Given the description of an element on the screen output the (x, y) to click on. 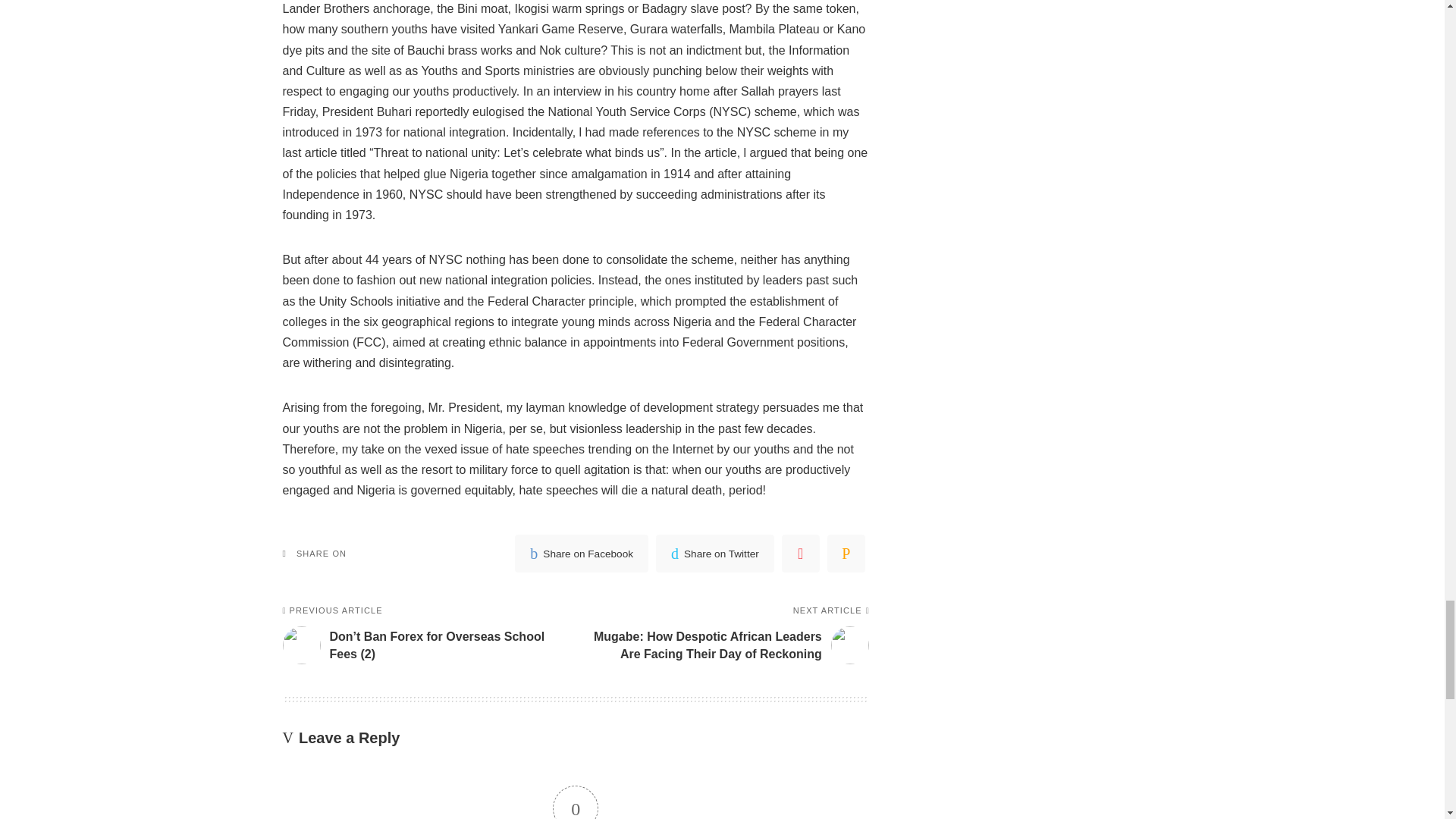
Twitter (715, 553)
Share on Facebook (581, 553)
Pinterest (800, 553)
Facebook (581, 553)
Email (845, 553)
Share on Twitter (715, 553)
